Given the description of an element on the screen output the (x, y) to click on. 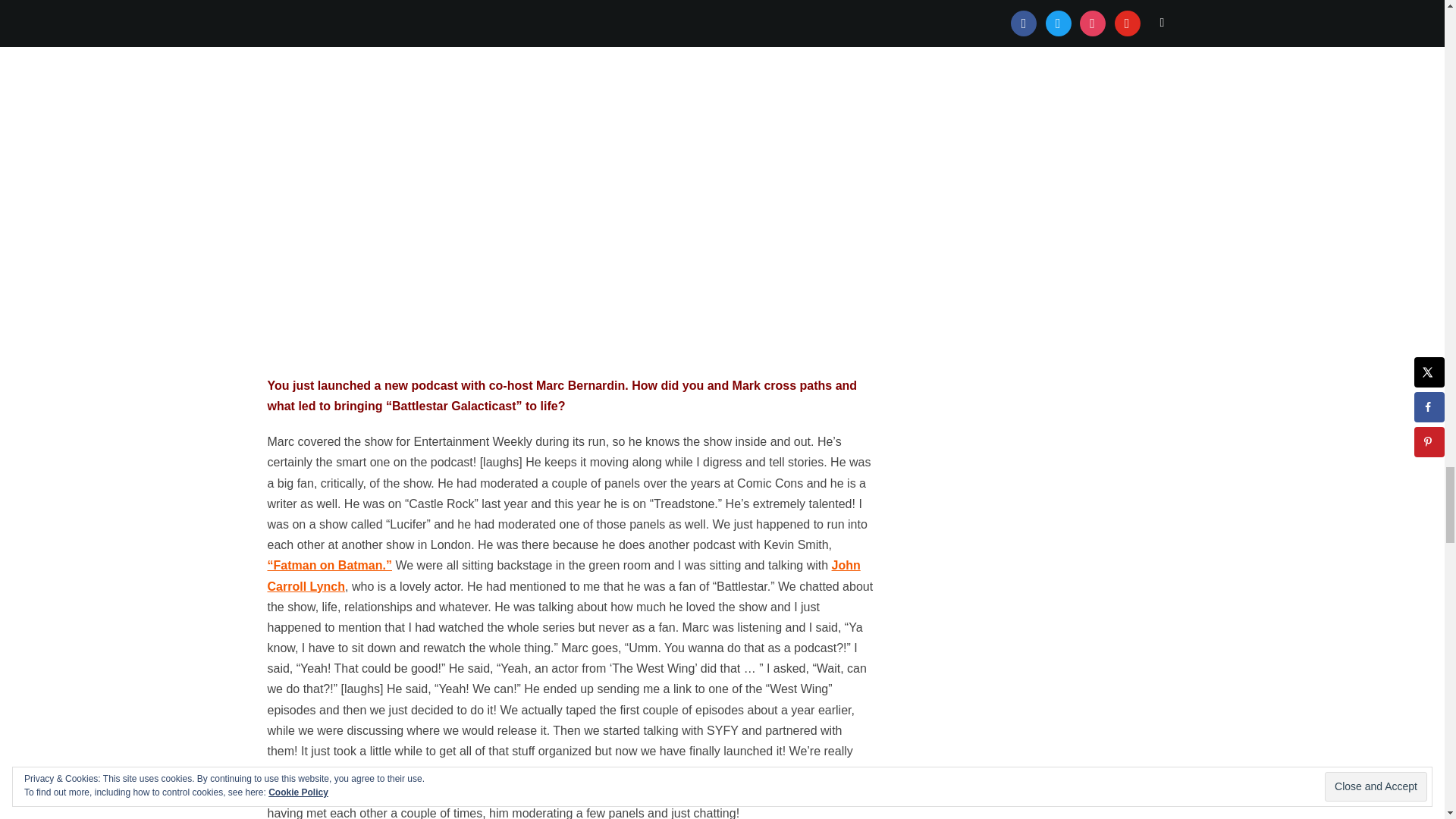
John Carroll Lynch (563, 575)
